Given the description of an element on the screen output the (x, y) to click on. 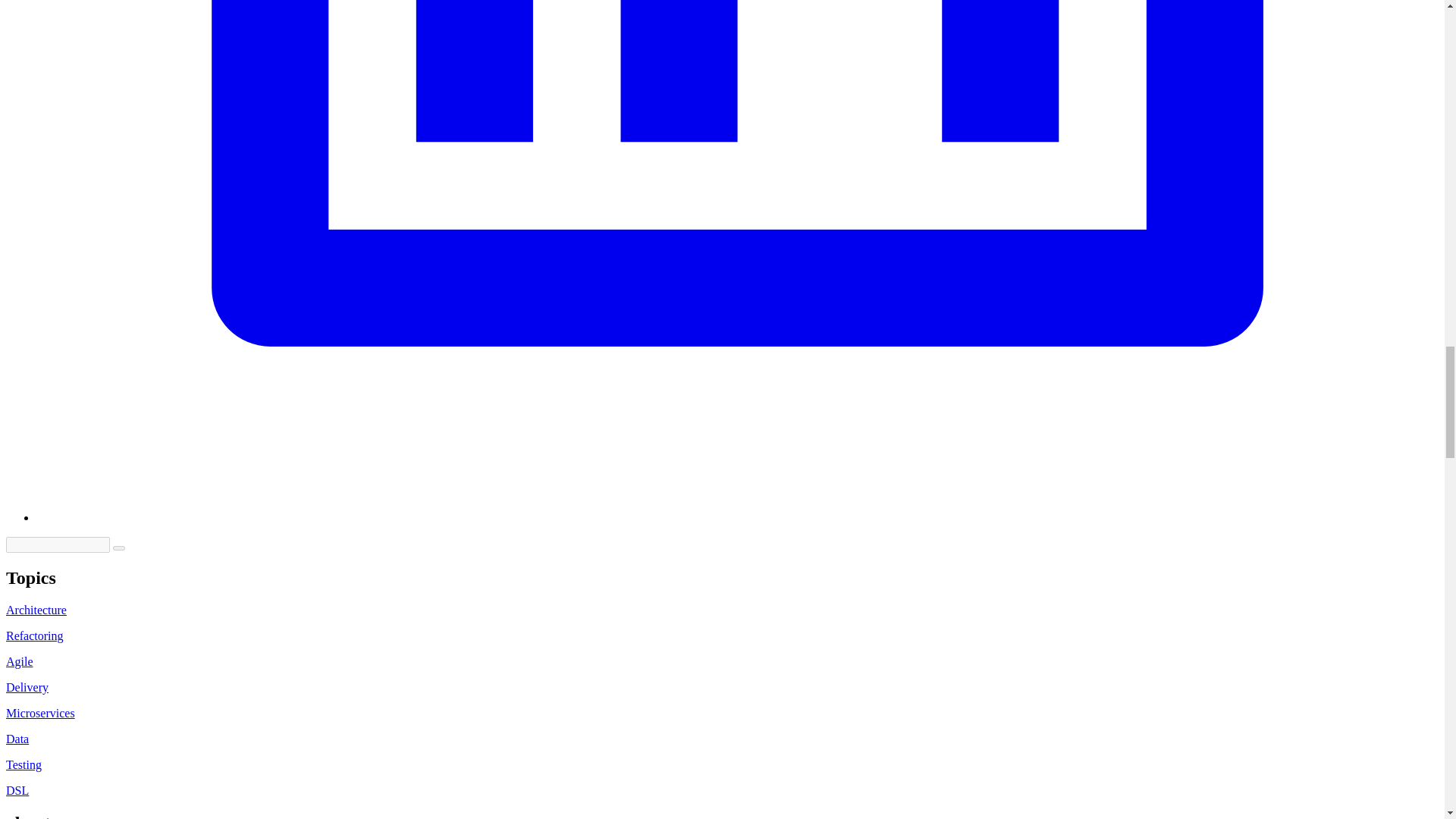
Search (119, 548)
Testing (23, 764)
Data (17, 738)
Microservices (40, 712)
Agile (19, 661)
Architecture (35, 609)
Delivery (26, 686)
DSL (17, 789)
Refactoring (34, 635)
